Given the description of an element on the screen output the (x, y) to click on. 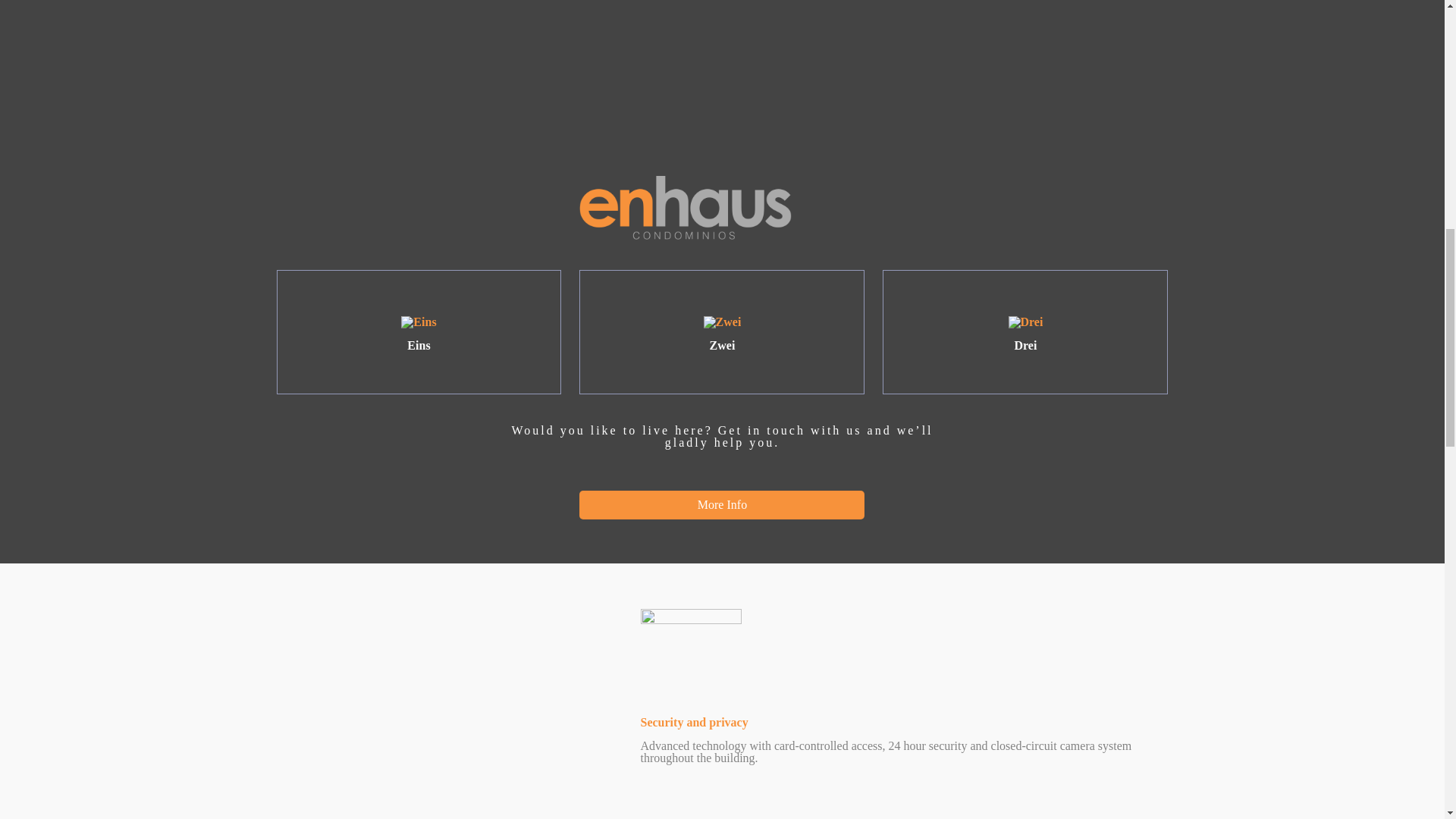
Zwei (721, 334)
More Info (721, 504)
Eins (419, 334)
Drei (1025, 334)
